Given the description of an element on the screen output the (x, y) to click on. 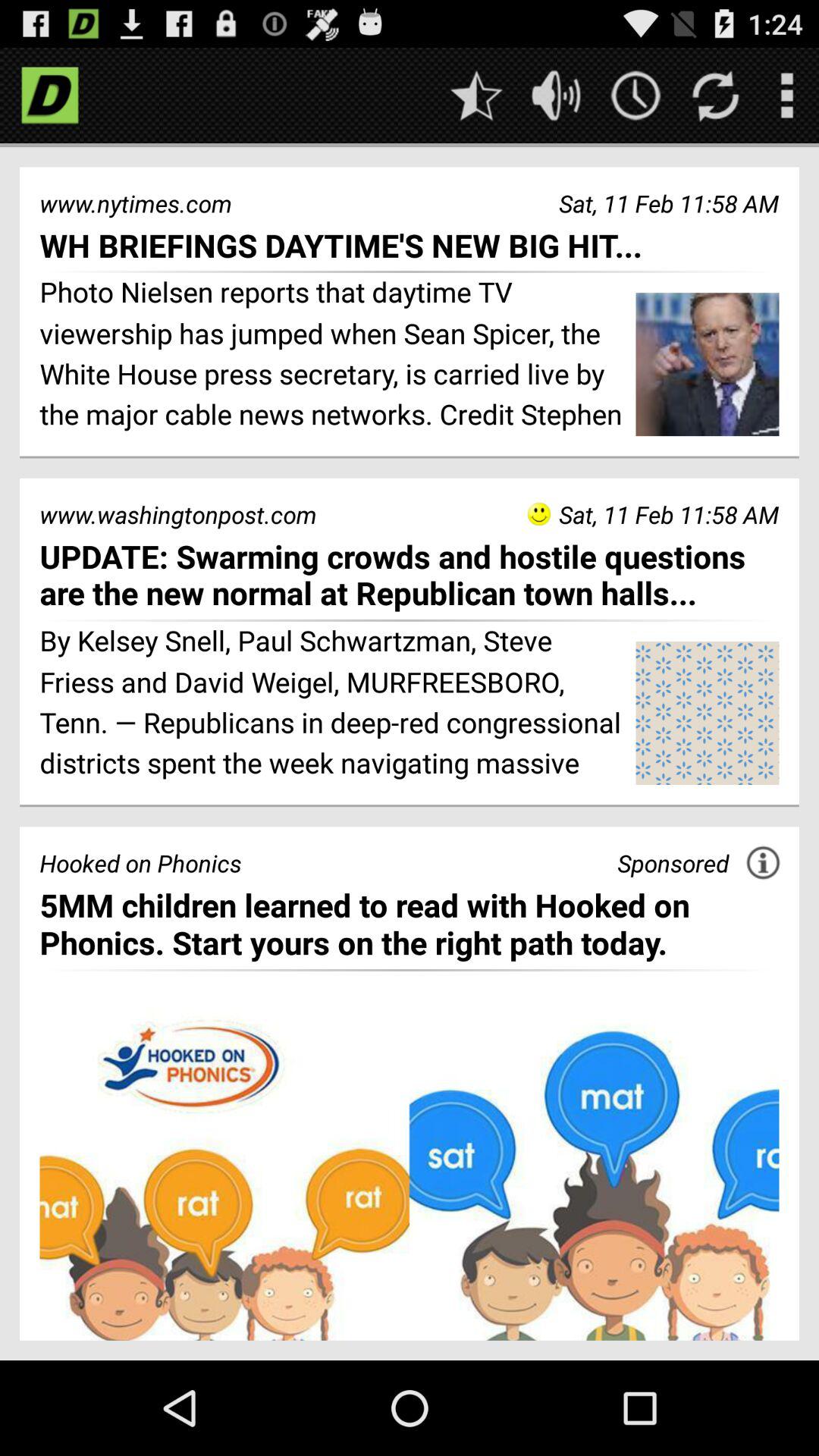
see more options (787, 95)
